Given the description of an element on the screen output the (x, y) to click on. 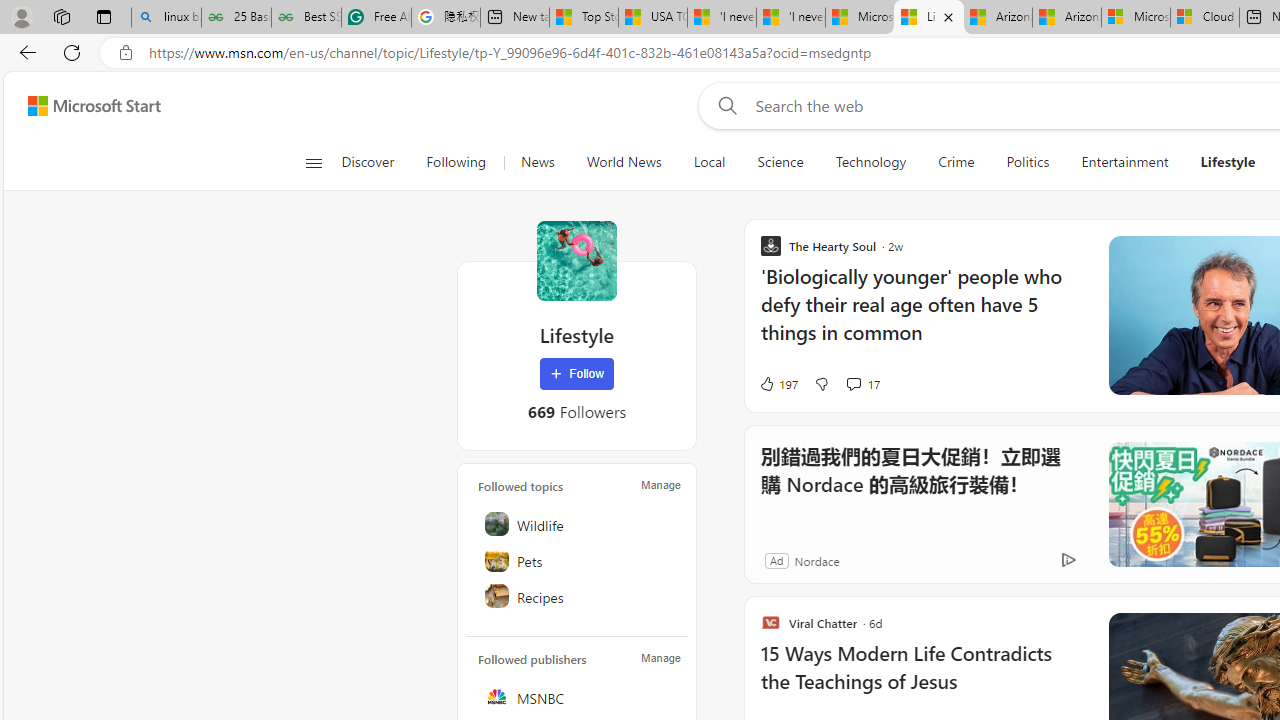
25 Basic Linux Commands For Beginners - GeeksforGeeks (236, 17)
Entertainment (1124, 162)
Best SSL Certificates Provider in India - GeeksforGeeks (305, 17)
Following (457, 162)
Politics (1027, 162)
Lifestyle (1228, 162)
Discover (367, 162)
Tab actions menu (104, 16)
Discover (375, 162)
Lifestyle (576, 260)
World News (623, 162)
Science (780, 162)
Lifestyle - MSN (928, 17)
